Given the description of an element on the screen output the (x, y) to click on. 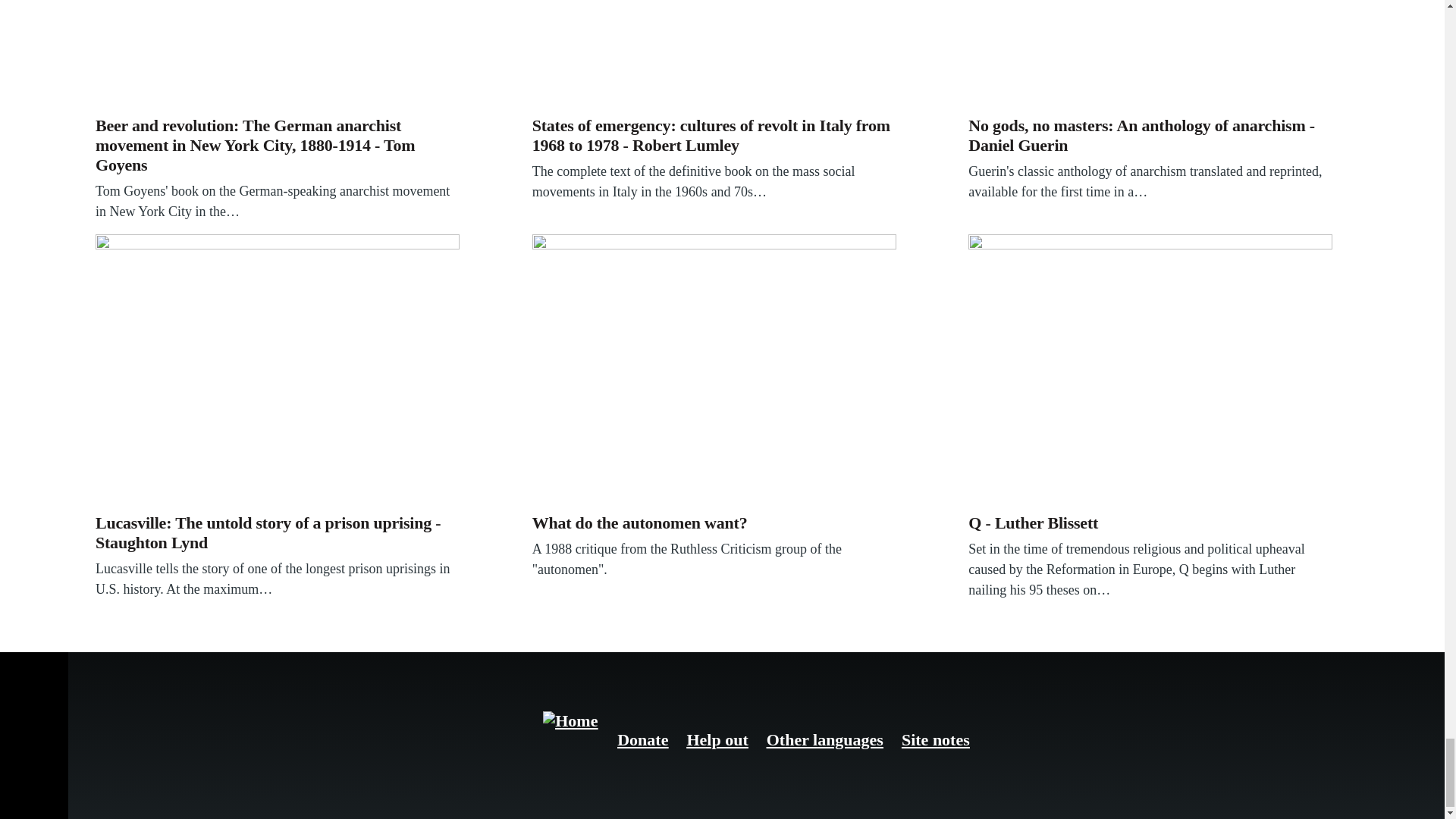
An Autonom (714, 370)
libcom content in languages other than English (825, 739)
Illustration of a beer hall (278, 54)
Students demonstrate in Milan, 1968 (714, 54)
